Given the description of an element on the screen output the (x, y) to click on. 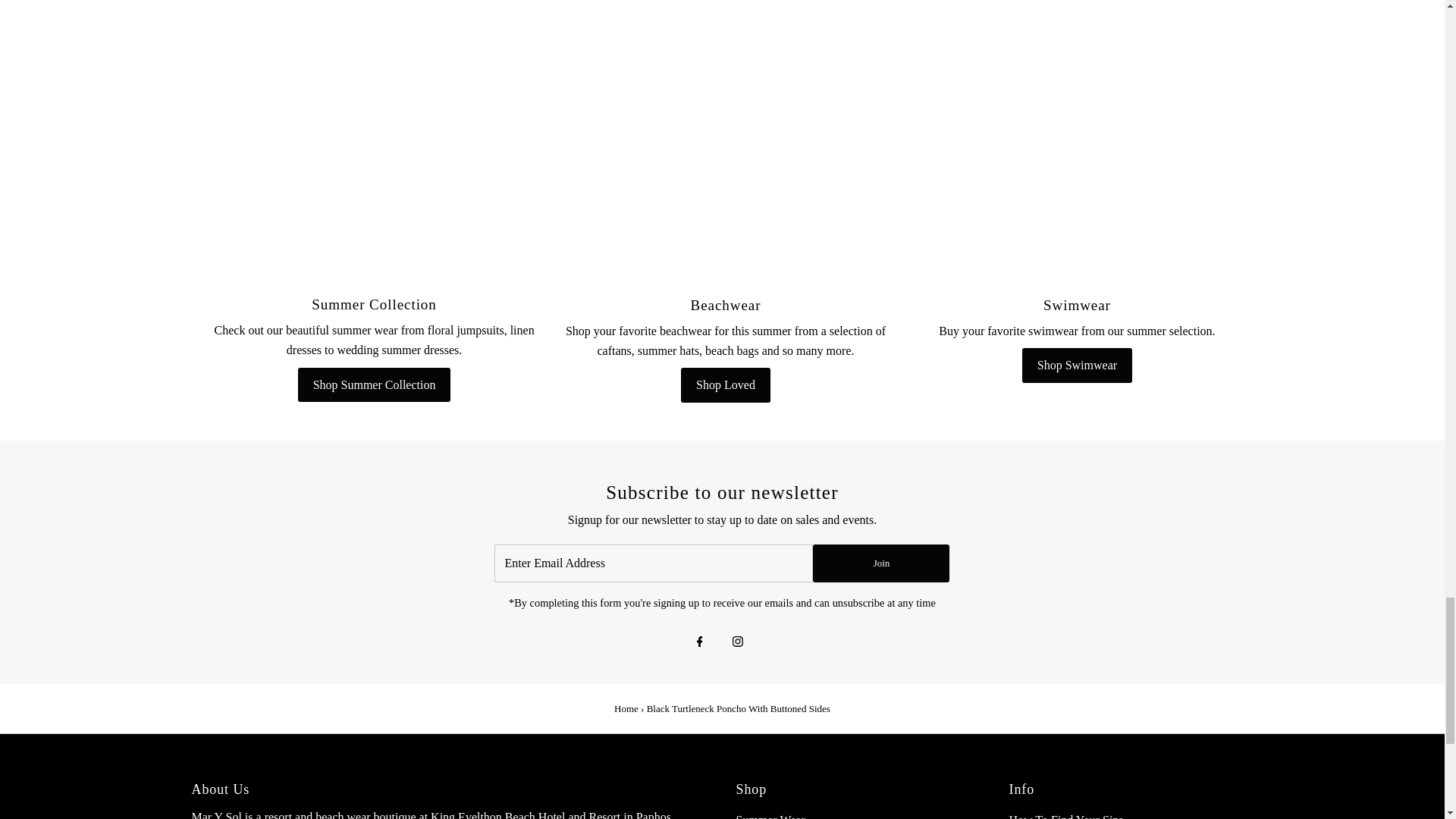
Home (626, 708)
